Given the description of an element on the screen output the (x, y) to click on. 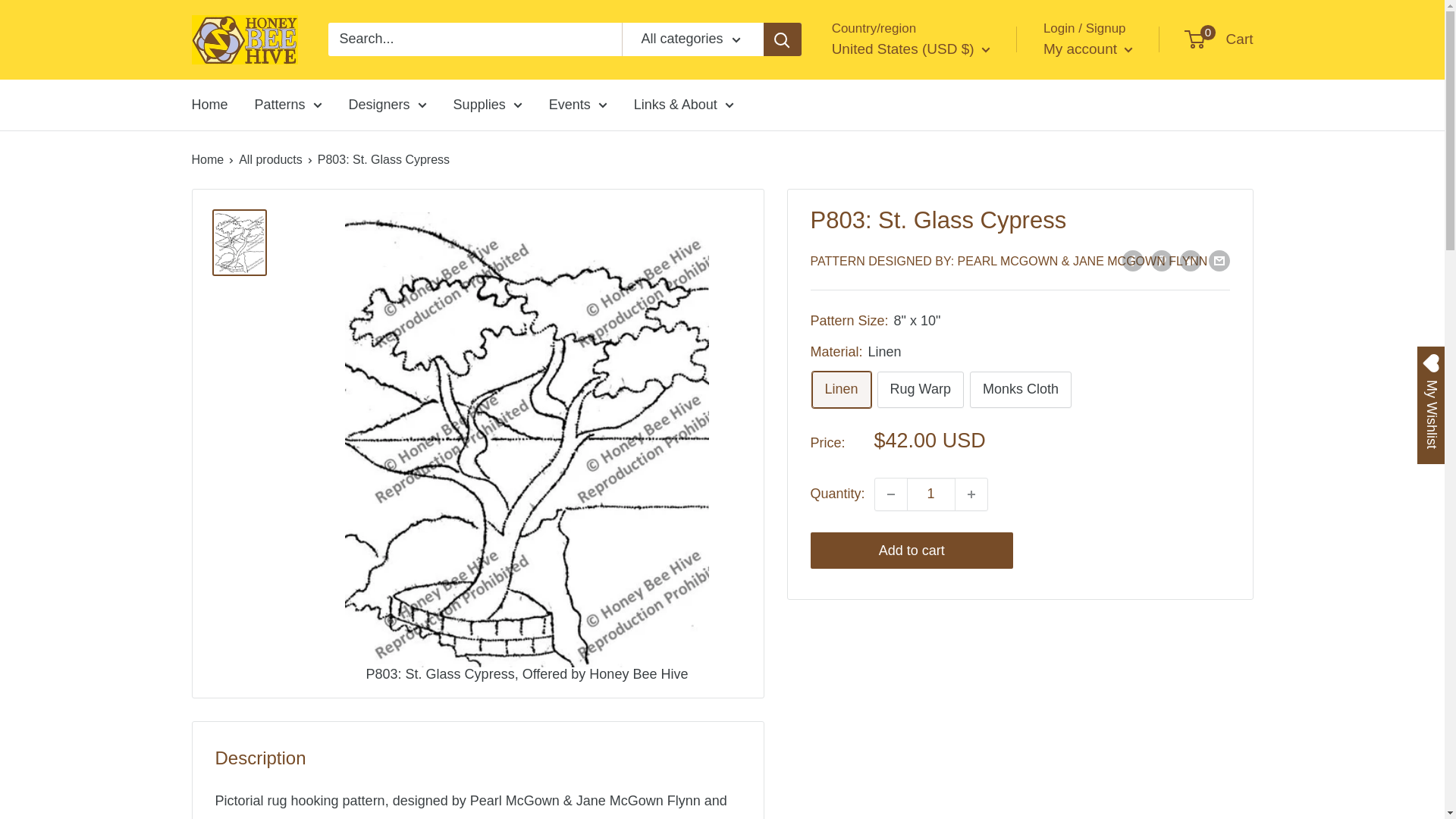
1 (931, 494)
Rug Warp (920, 389)
Monks Cloth (1020, 389)
Increase quantity by 1 (971, 494)
Linen (840, 389)
Decrease quantity by 1 (891, 494)
